Given the description of an element on the screen output the (x, y) to click on. 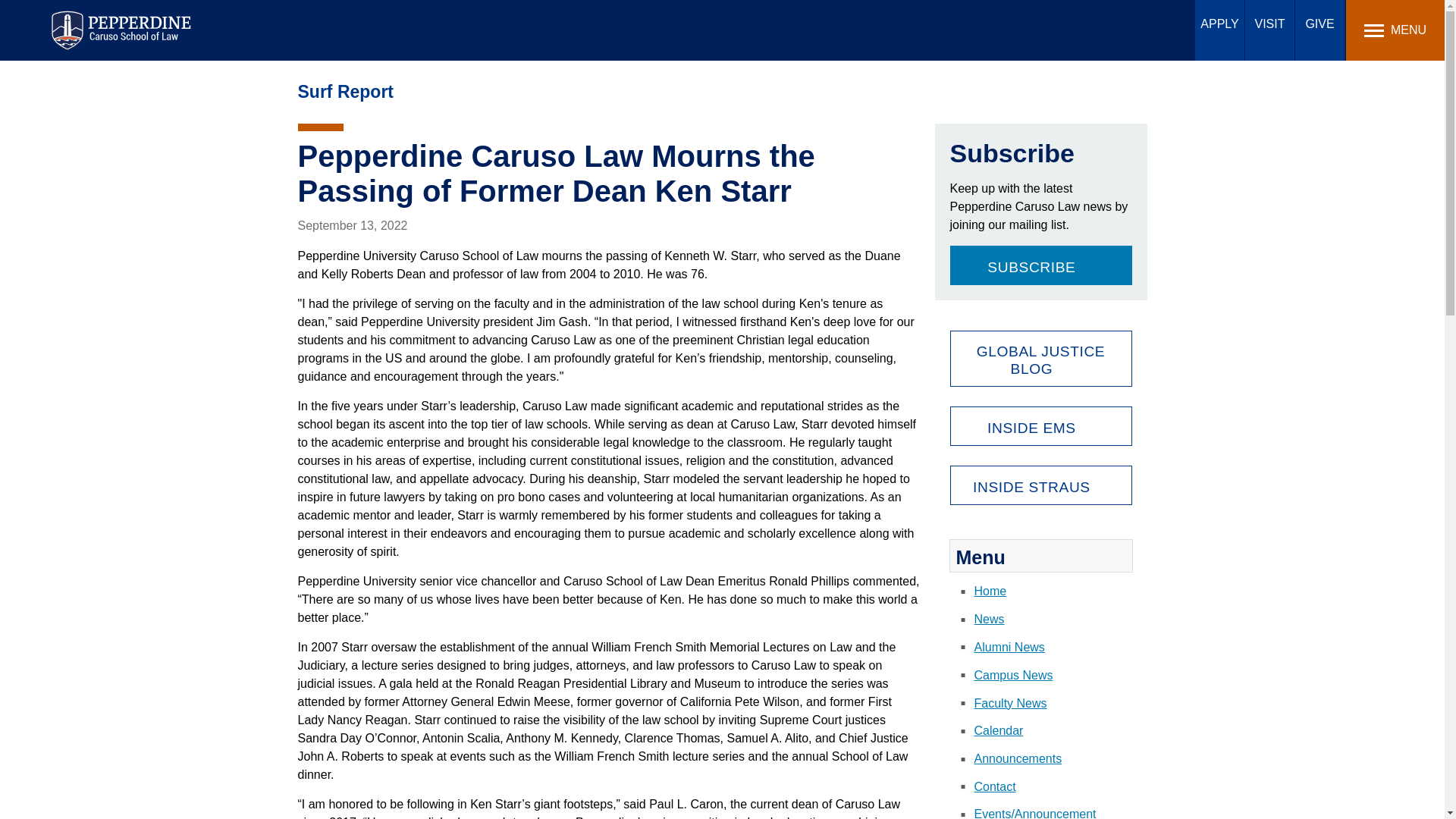
Submit (457, 19)
open search (1182, 29)
